Given the description of an element on the screen output the (x, y) to click on. 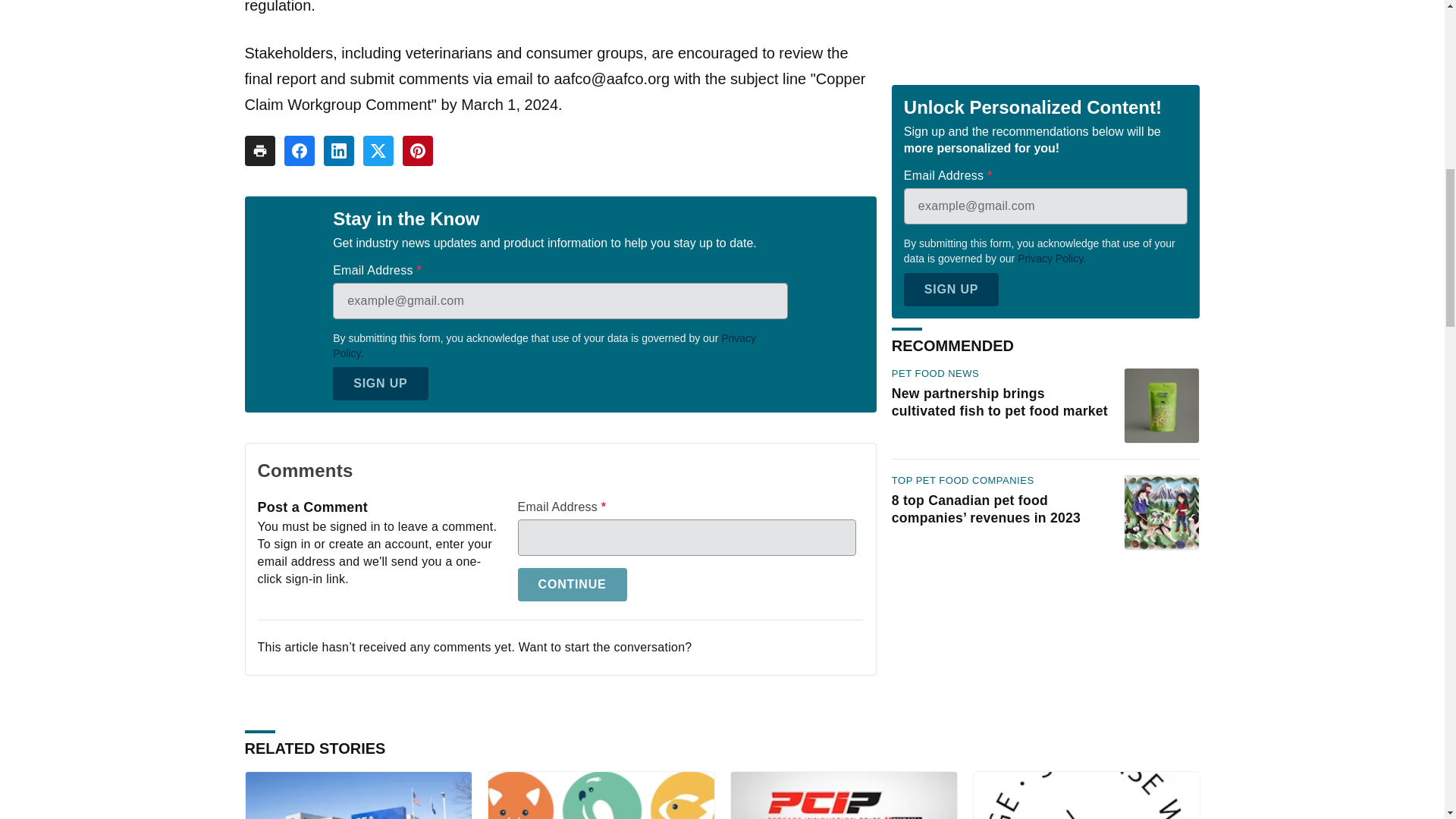
Share To pinterest (416, 150)
Share To print (259, 150)
Top Pet Food Companies (962, 121)
Share To linkedin (338, 150)
Share To facebook (298, 150)
Share To twitter (377, 150)
